Given the description of an element on the screen output the (x, y) to click on. 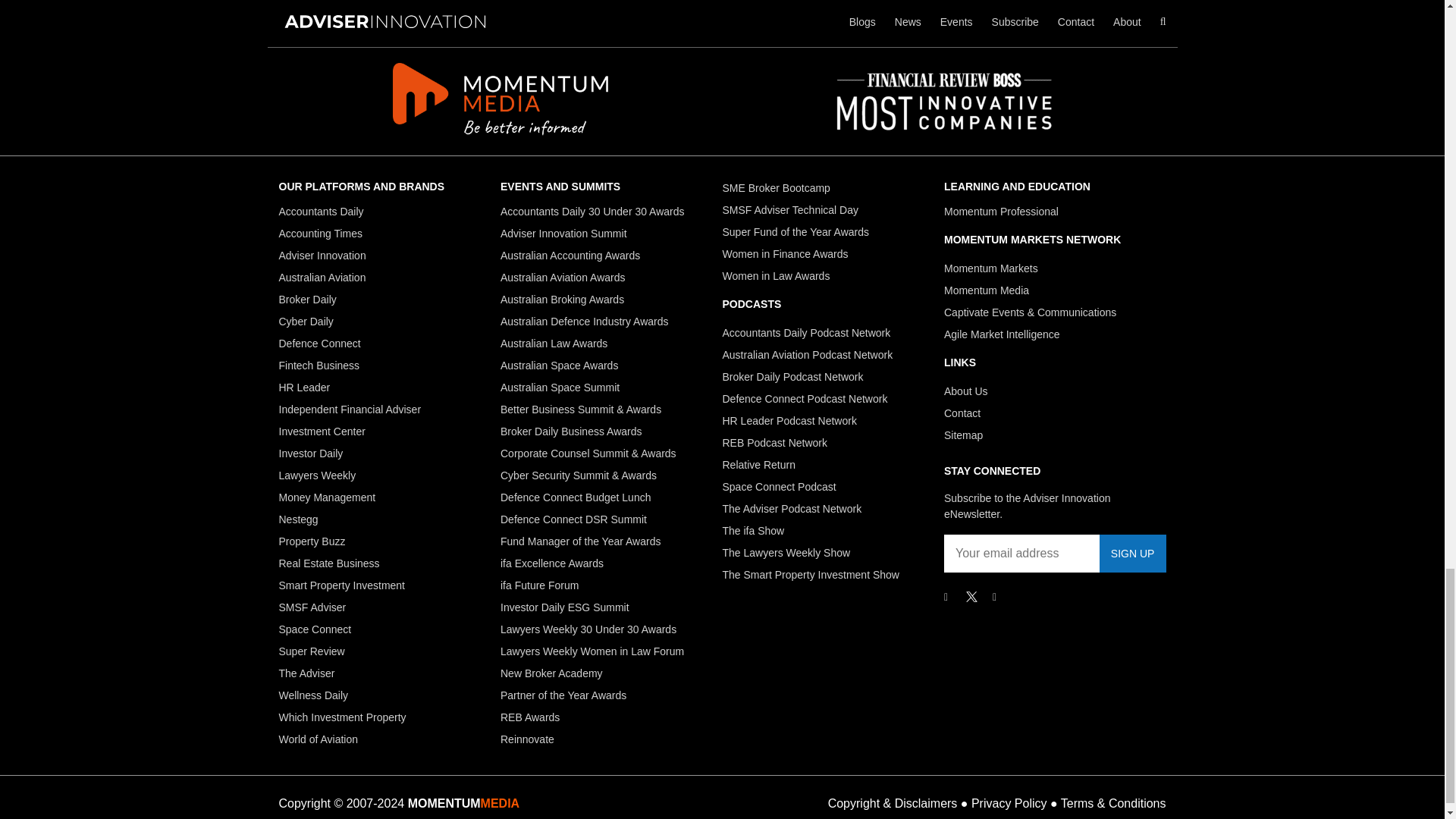
Sign up (1132, 553)
